Given the description of an element on the screen output the (x, y) to click on. 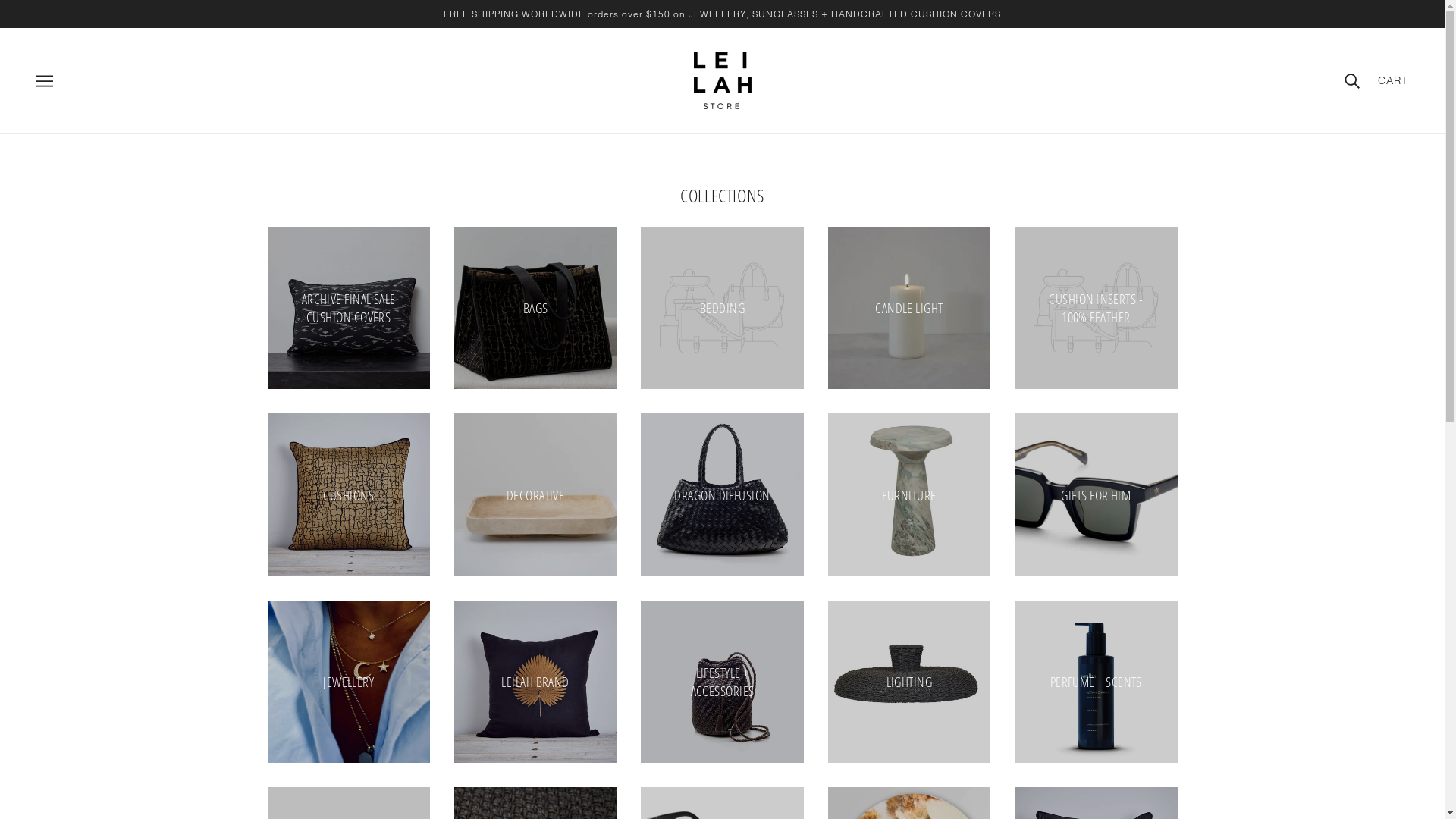
CUSHIONS Element type: text (347, 494)
BEDDING Element type: text (721, 307)
GIFTS FOR HIM Element type: text (1095, 494)
FURNITURE Element type: text (909, 494)
BAGS Element type: text (535, 307)
ARCHIVE FINAL SALE CUSHION COVERS Element type: text (347, 307)
PERFUME + SCENTS Element type: text (1095, 681)
Leilah Element type: hover (721, 80)
CANDLE LIGHT Element type: text (909, 307)
LIGHTING Element type: text (909, 681)
CART Element type: text (1392, 80)
DECORATIVE Element type: text (535, 494)
JEWELLERY Element type: text (347, 681)
CUSHION INSERTS - 100% FEATHER Element type: text (1095, 307)
LIFESTYLE + ACCESSORIES Element type: text (721, 681)
DRAGON DIFFUSION Element type: text (721, 494)
LEILAH BRAND Element type: text (535, 681)
